Given the description of an element on the screen output the (x, y) to click on. 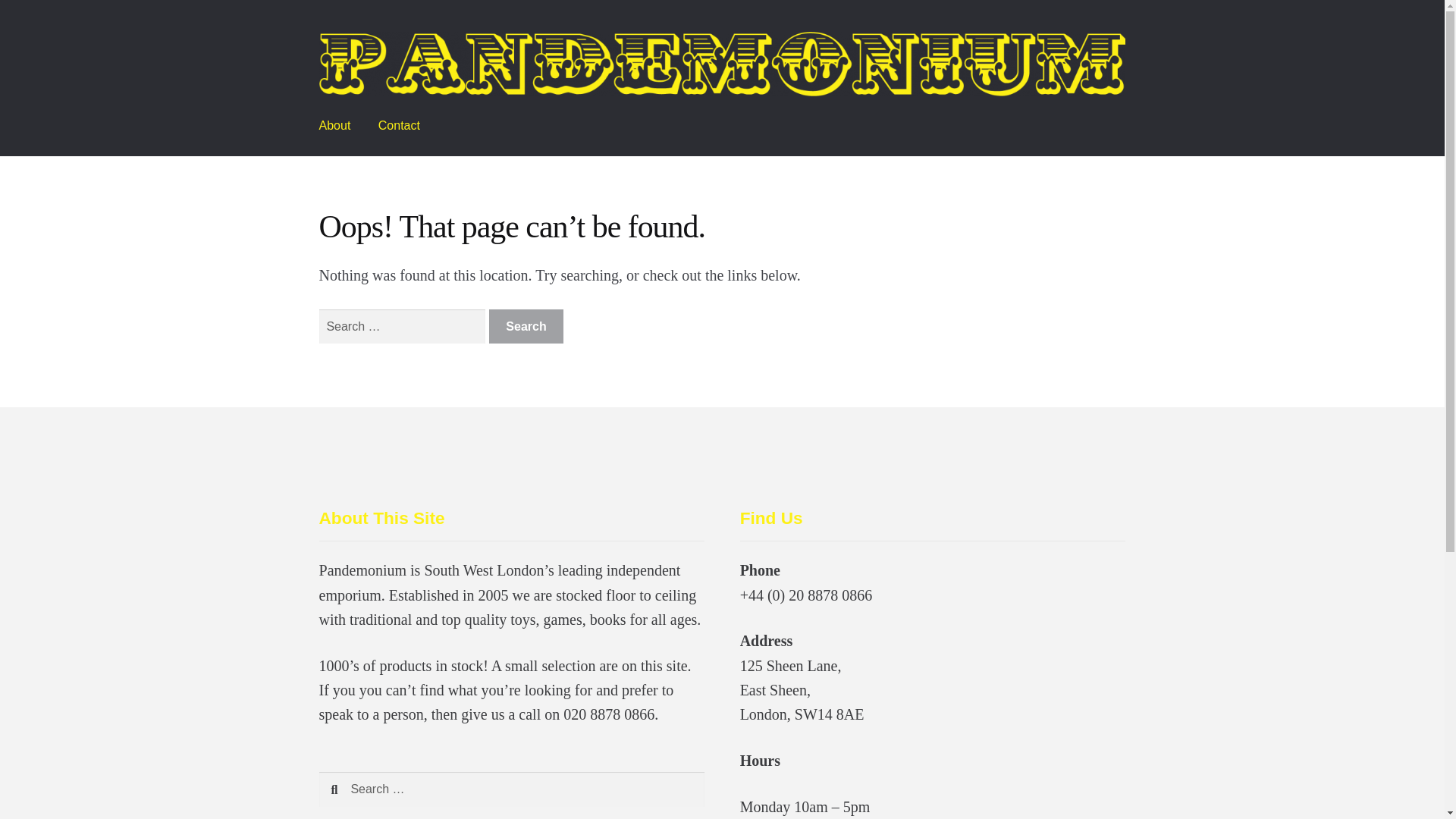
Search (526, 326)
Search (526, 326)
Contact (399, 125)
Search (526, 326)
About (334, 125)
